Given the description of an element on the screen output the (x, y) to click on. 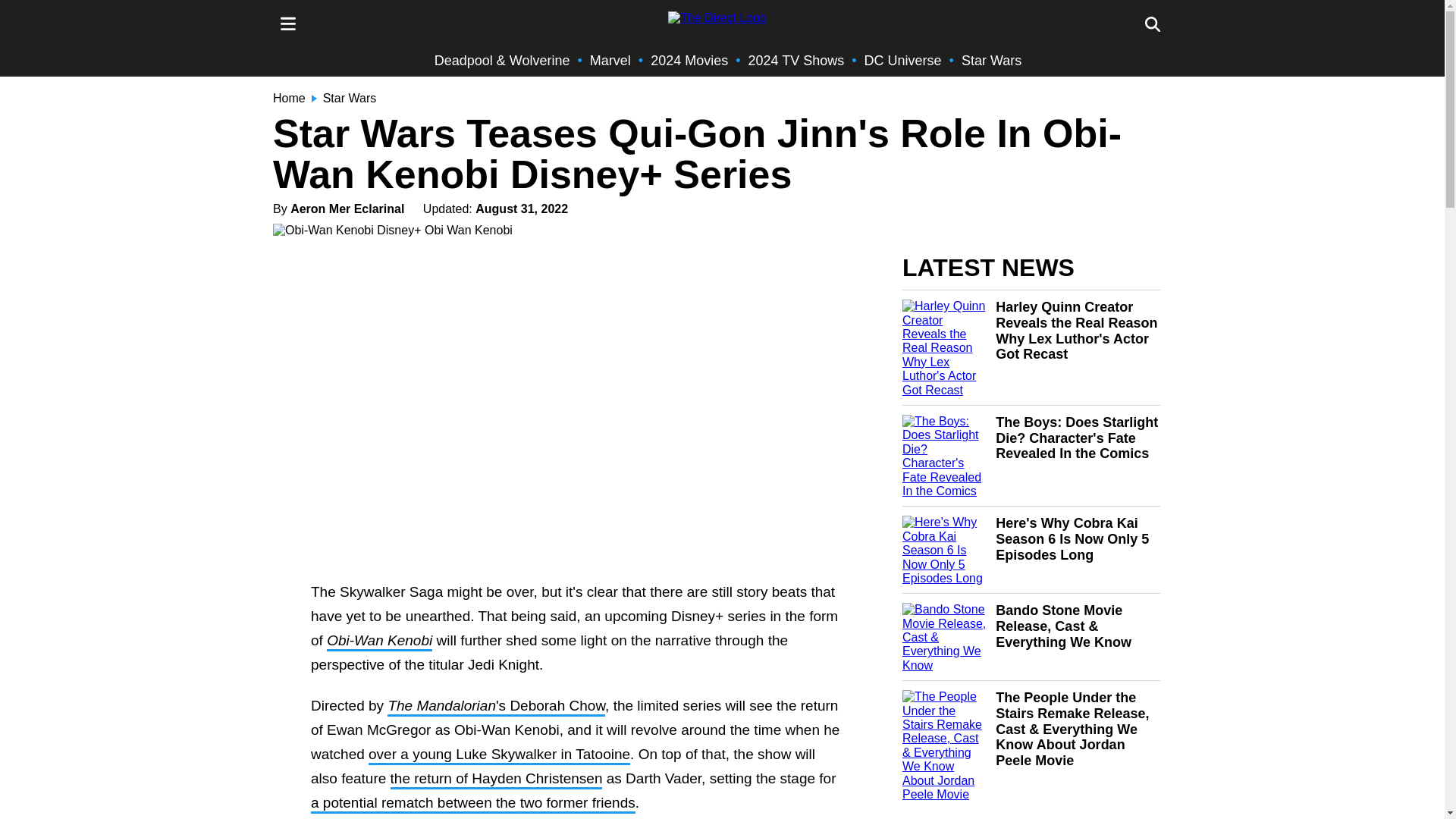
2024 TV Shows (796, 60)
Marvel (609, 60)
DC Universe (903, 60)
2024 Movies (689, 60)
Star Wars (991, 60)
